Given the description of an element on the screen output the (x, y) to click on. 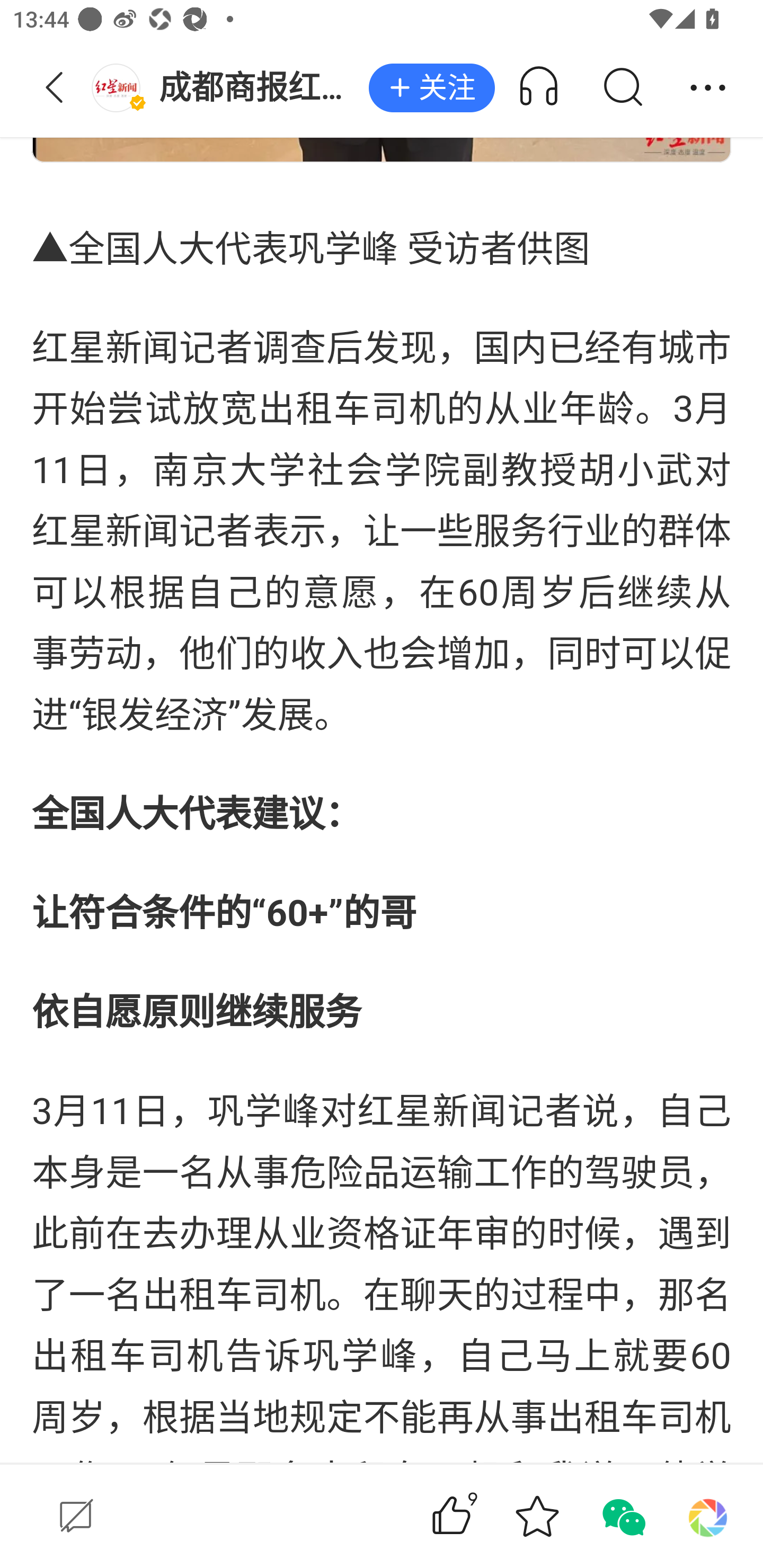
成都商报红星... (229, 87)
搜索  (622, 87)
分享  (707, 87)
 返回 (54, 87)
 关注 (431, 88)
发表评论  发表评论 (199, 1516)
9赞 (476, 1516)
收藏  (536, 1516)
分享到微信  (622, 1516)
分享到朋友圈 (707, 1516)
